Given the description of an element on the screen output the (x, y) to click on. 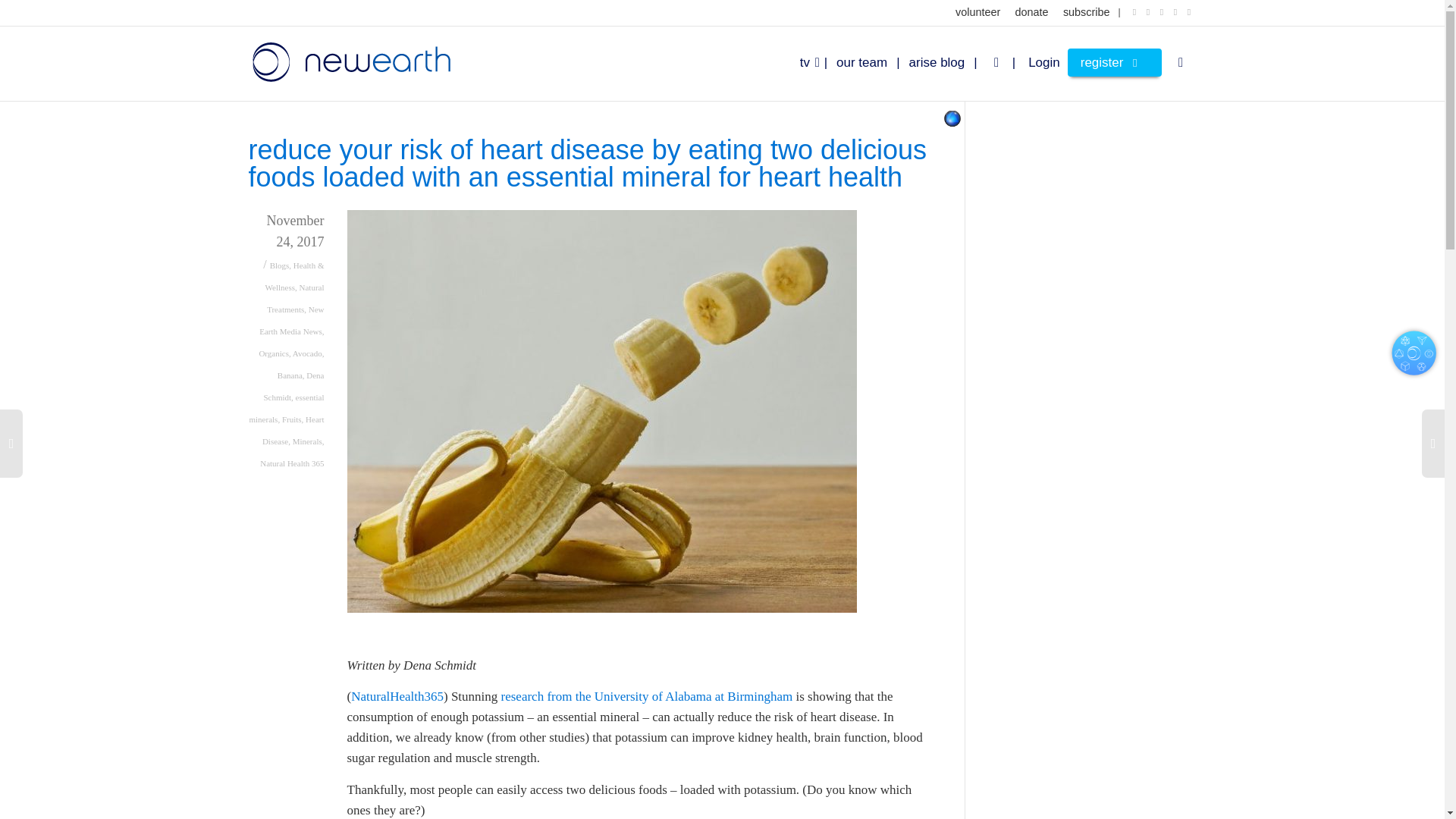
Organics (273, 352)
Natural Treatments (294, 297)
Dena Schmidt (293, 386)
Fruits (291, 419)
our team (871, 62)
volunteer (977, 12)
Avocado (306, 352)
Blogs (279, 265)
Arise Blog (947, 62)
subscribe (1086, 12)
